Given the description of an element on the screen output the (x, y) to click on. 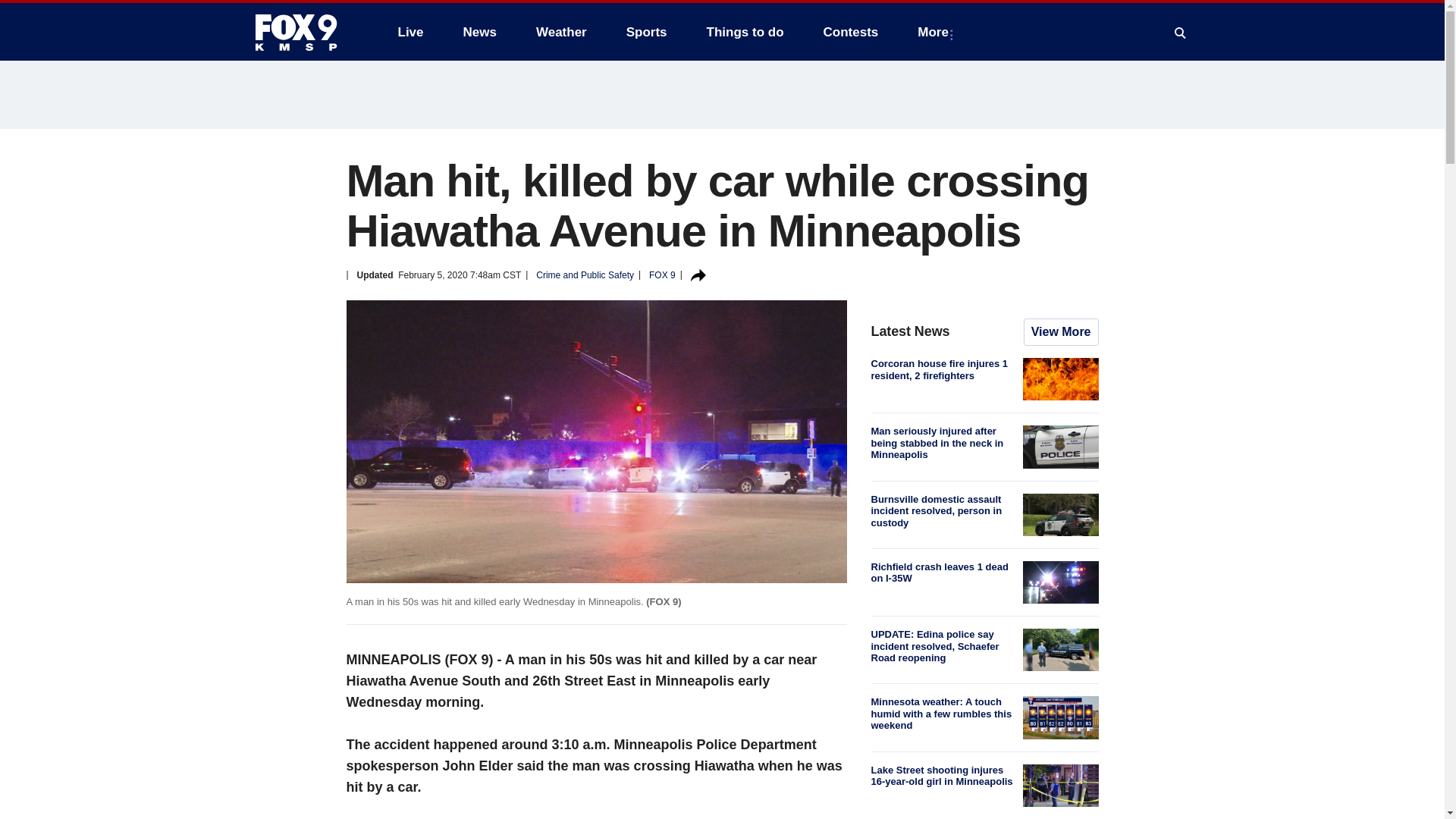
Live (410, 32)
More (935, 32)
Weather (561, 32)
Things to do (745, 32)
News (479, 32)
Sports (646, 32)
Contests (850, 32)
